Given the description of an element on the screen output the (x, y) to click on. 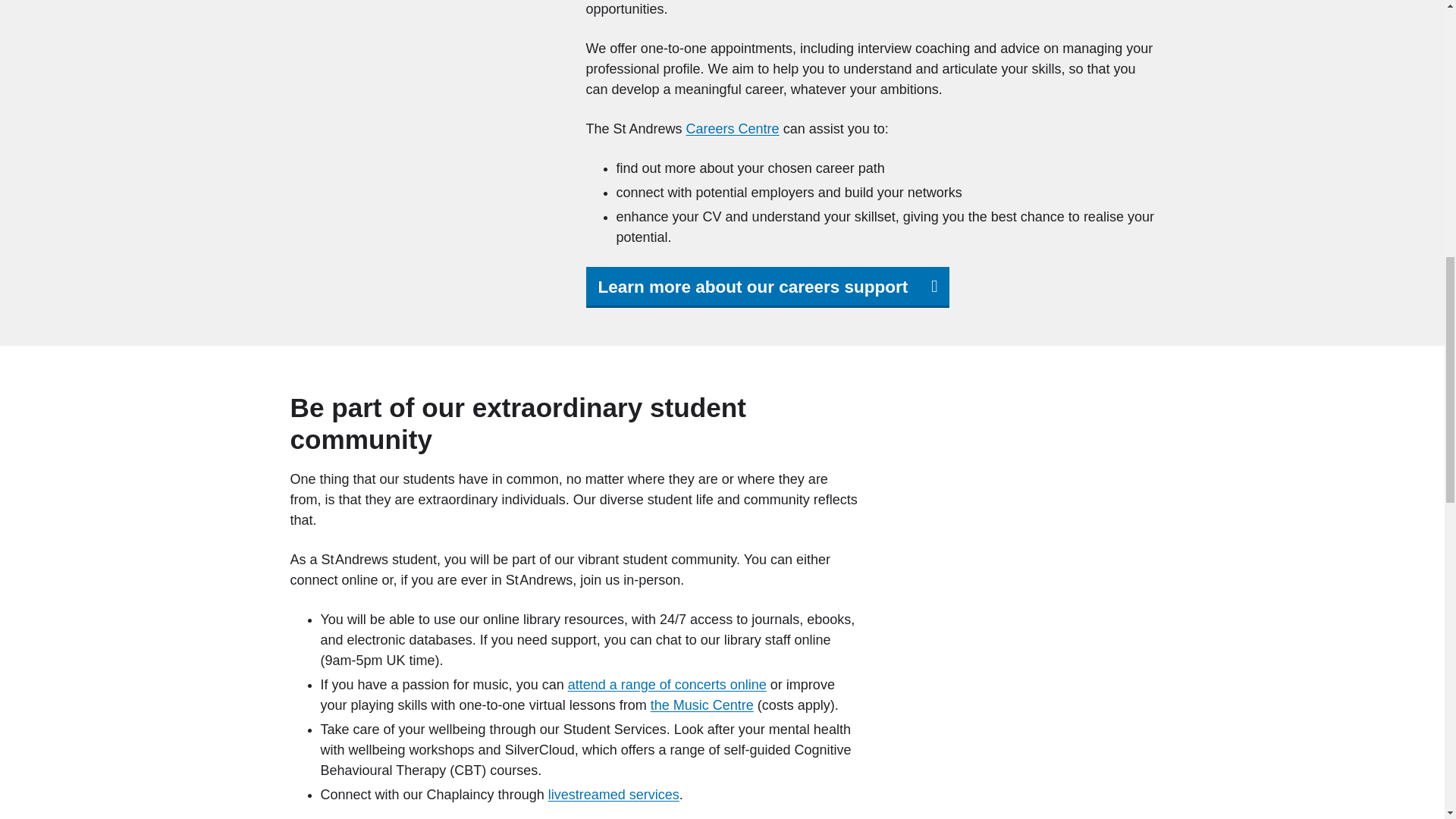
livestreamed services (613, 794)
attend a range of concerts online (667, 683)
Careers Centre (731, 128)
Learn more about our careers support (767, 286)
the Music Centre (702, 704)
